Given the description of an element on the screen output the (x, y) to click on. 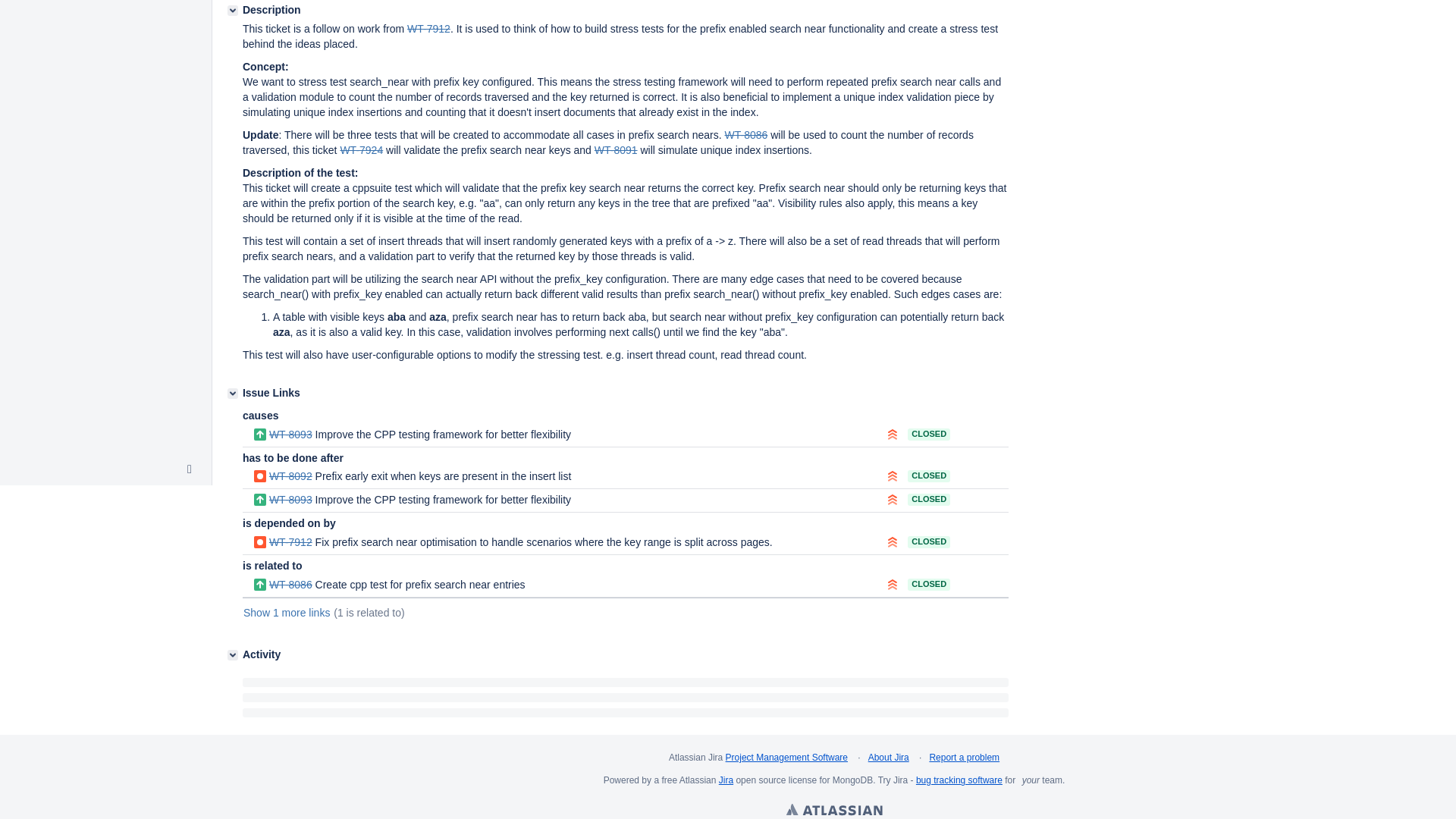
WT-8086 (745, 134)
WT-7924 (360, 150)
WT-8091 (615, 150)
Create cpp test for prefix search near entries (745, 134)
Create a stress test for prefix search near key validation (360, 150)
Description (232, 9)
WT-7912 (428, 28)
